Given the description of an element on the screen output the (x, y) to click on. 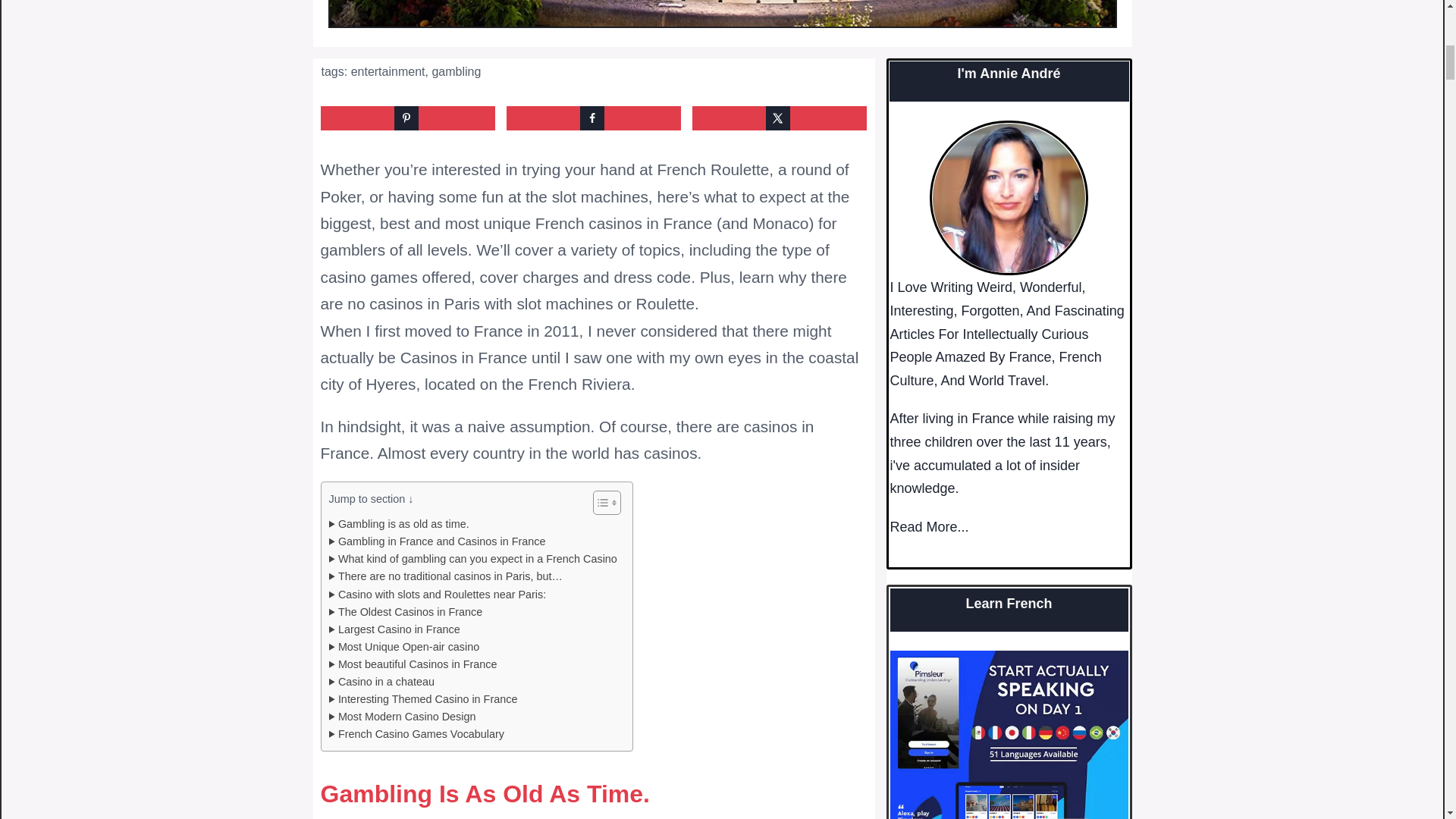
gambling (455, 71)
entertainment (387, 71)
